Given the description of an element on the screen output the (x, y) to click on. 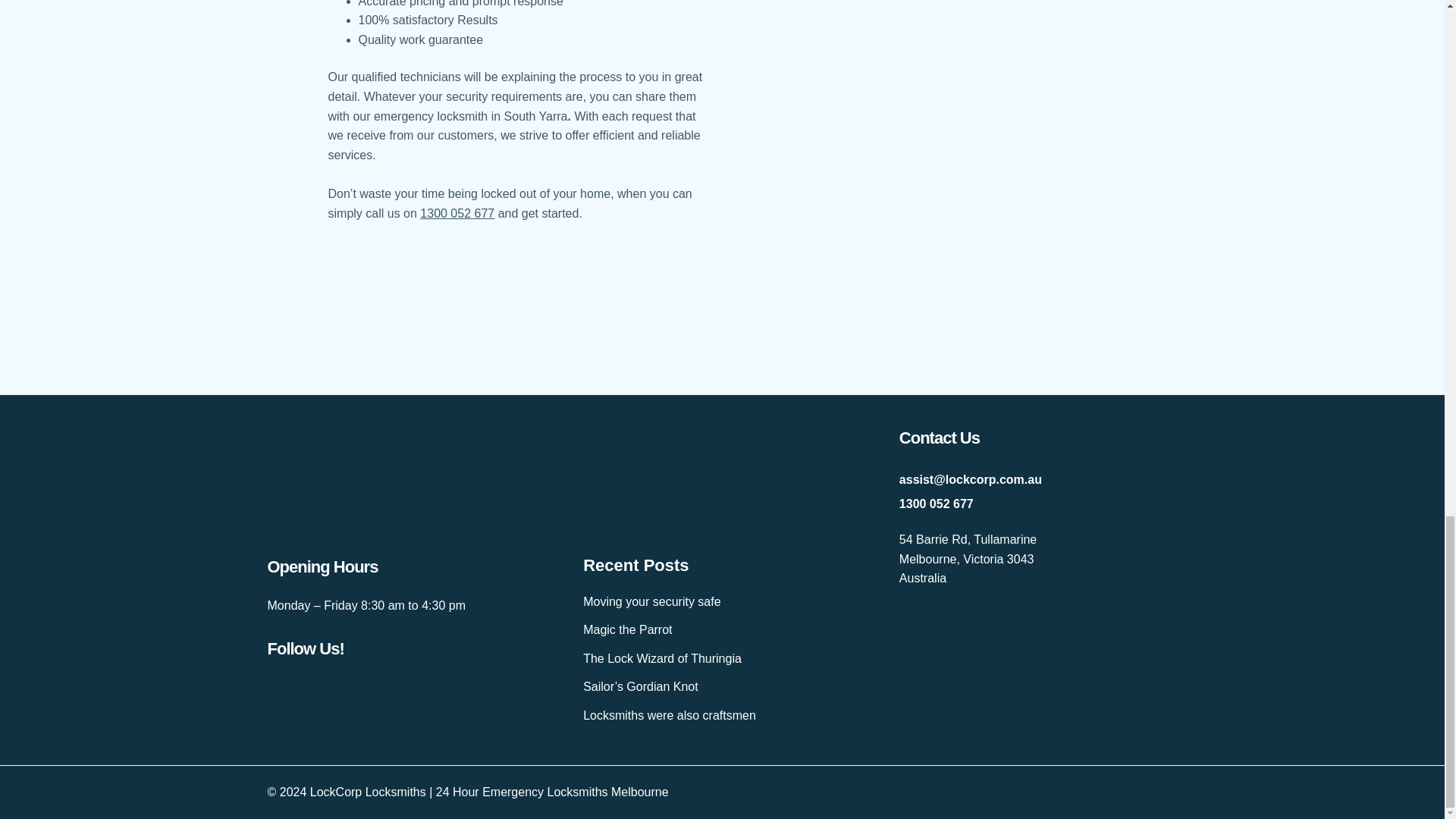
Follow Us on Facebook (386, 689)
1300 052 677 (457, 213)
Follow Us on Instagram (418, 689)
